Given the description of an element on the screen output the (x, y) to click on. 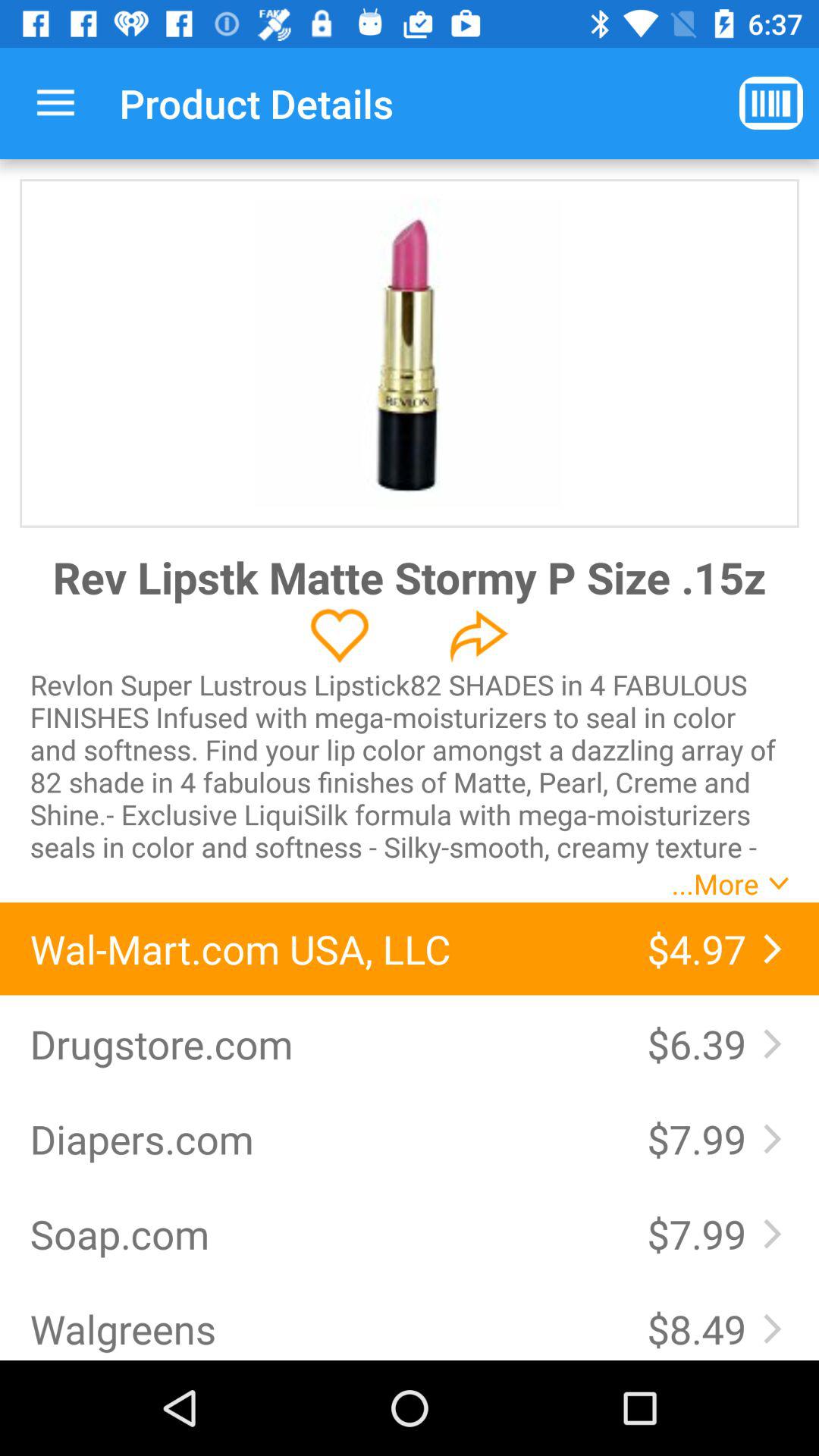
open the icon to the left of the product details icon (55, 103)
